Given the description of an element on the screen output the (x, y) to click on. 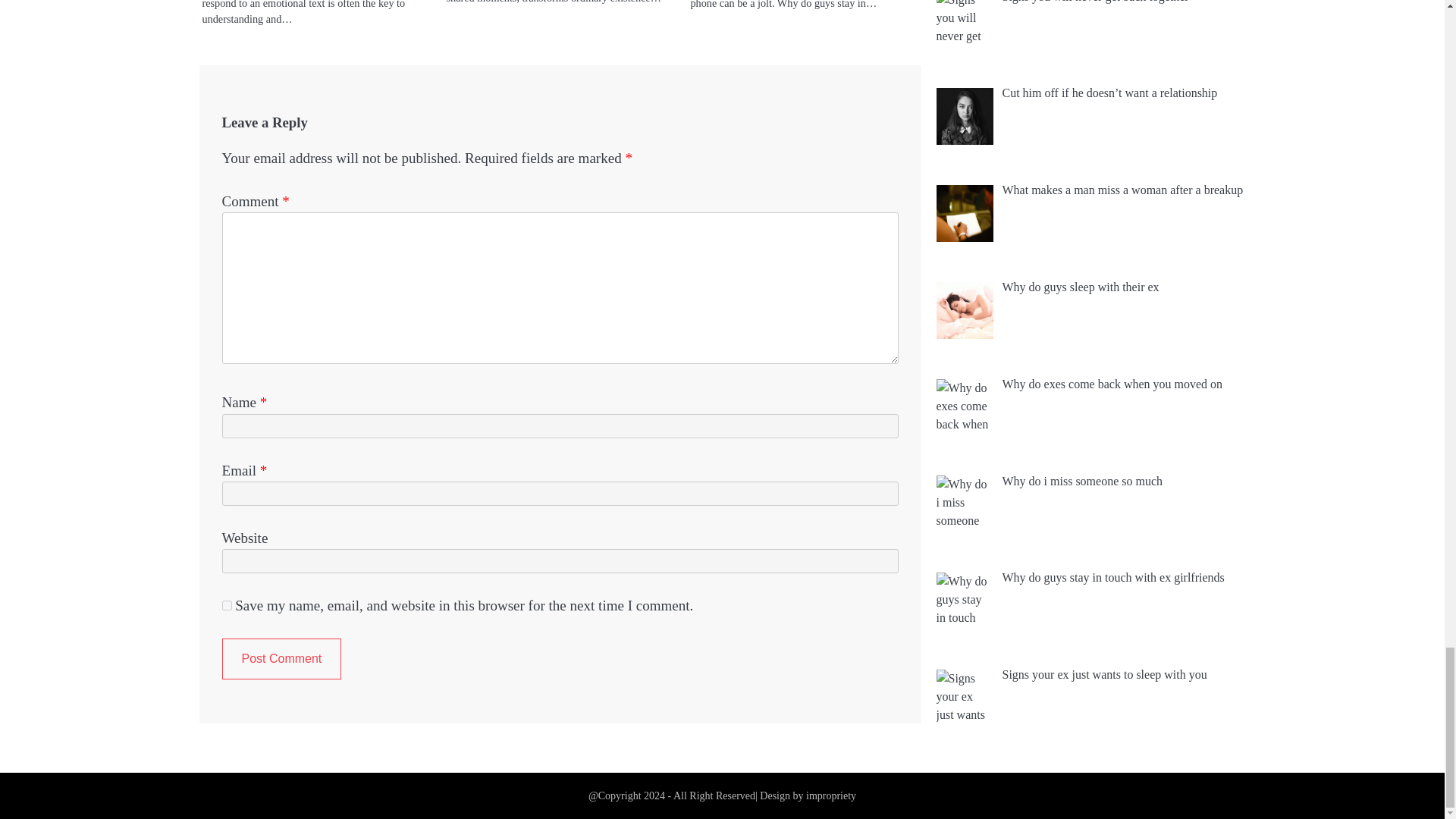
Post Comment (280, 658)
yes (226, 605)
Post Comment (280, 658)
